Given the description of an element on the screen output the (x, y) to click on. 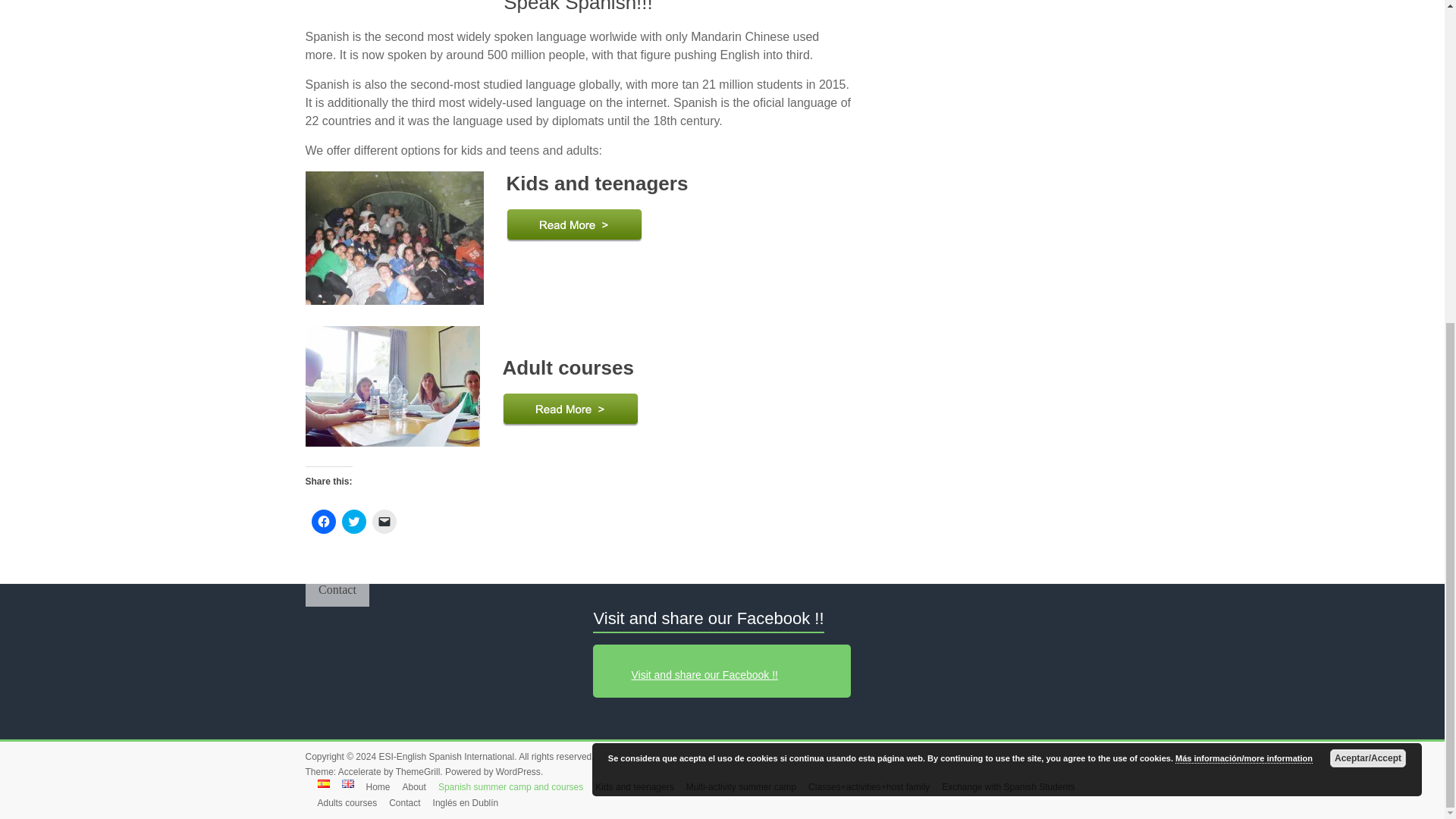
WordPress (518, 771)
Accelerate (359, 771)
Click to share on Twitter (352, 521)
Contact (336, 589)
Click to email a link to a friend (383, 521)
Kids and teenagers (627, 787)
ESI-English Spanish International (445, 756)
Home (371, 787)
Accelerate (359, 771)
ESI-English Spanish International (445, 756)
Spanish summer camp and courses (504, 787)
Click to share on Facebook (322, 521)
Visit and share our Facebook !! (708, 618)
Contact (336, 589)
About (408, 787)
